Given the description of an element on the screen output the (x, y) to click on. 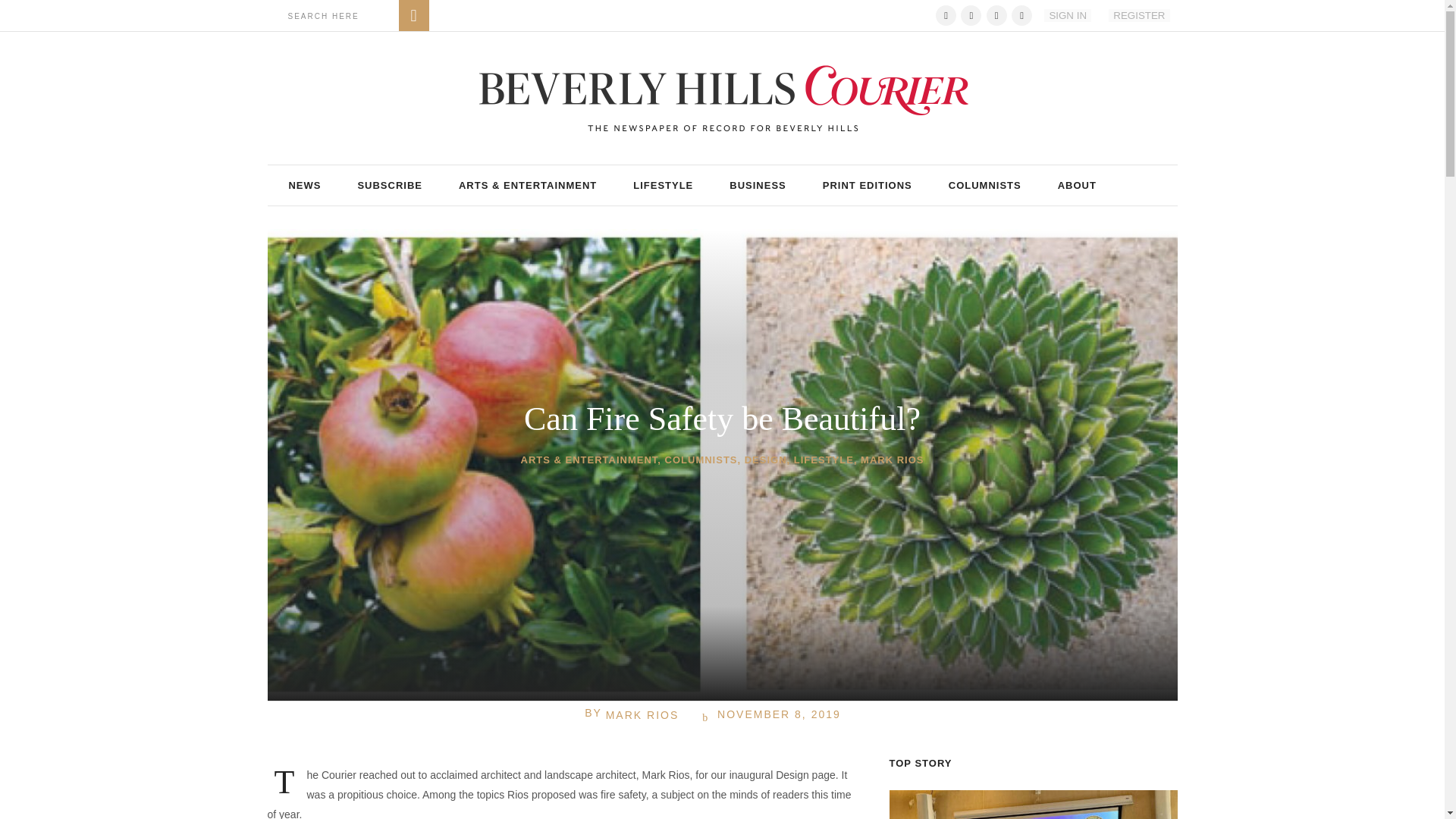
SUBSCRIBE (390, 185)
SIGN IN (1066, 15)
NEWS (304, 185)
COLUMNISTS (984, 185)
BUSINESS (757, 185)
REGISTER (1138, 15)
LIFESTYLE (662, 185)
PRINT EDITIONS (867, 185)
